Given the description of an element on the screen output the (x, y) to click on. 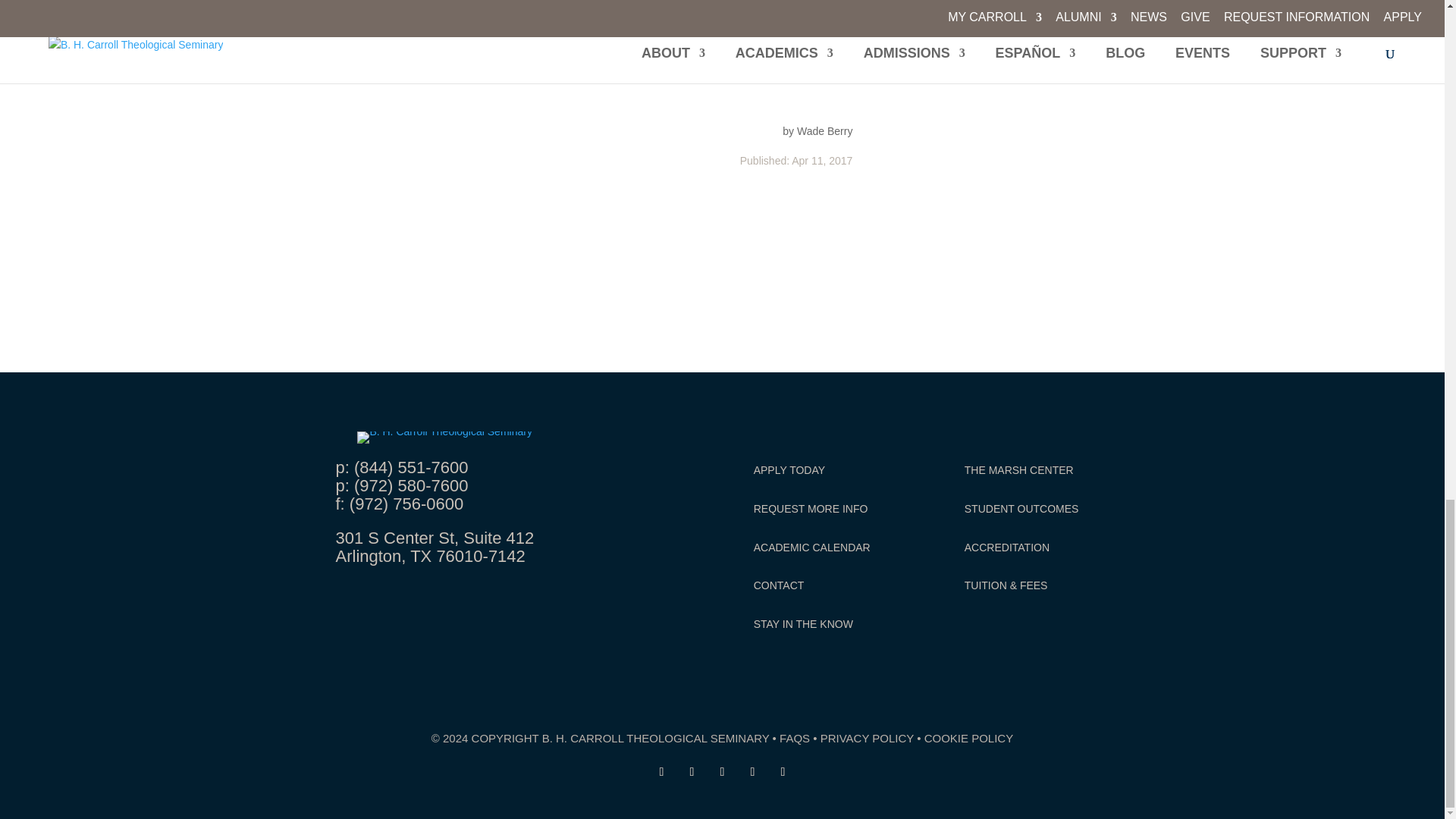
Follow on X (691, 771)
bh-carroll-theological-seminary-tan (444, 437)
Follow on LinkedIn (782, 771)
Follow on Facebook (660, 771)
Follow on Instagram (721, 771)
Posts by Wade Berry (823, 131)
Follow on Youtube (751, 771)
